Given the description of an element on the screen output the (x, y) to click on. 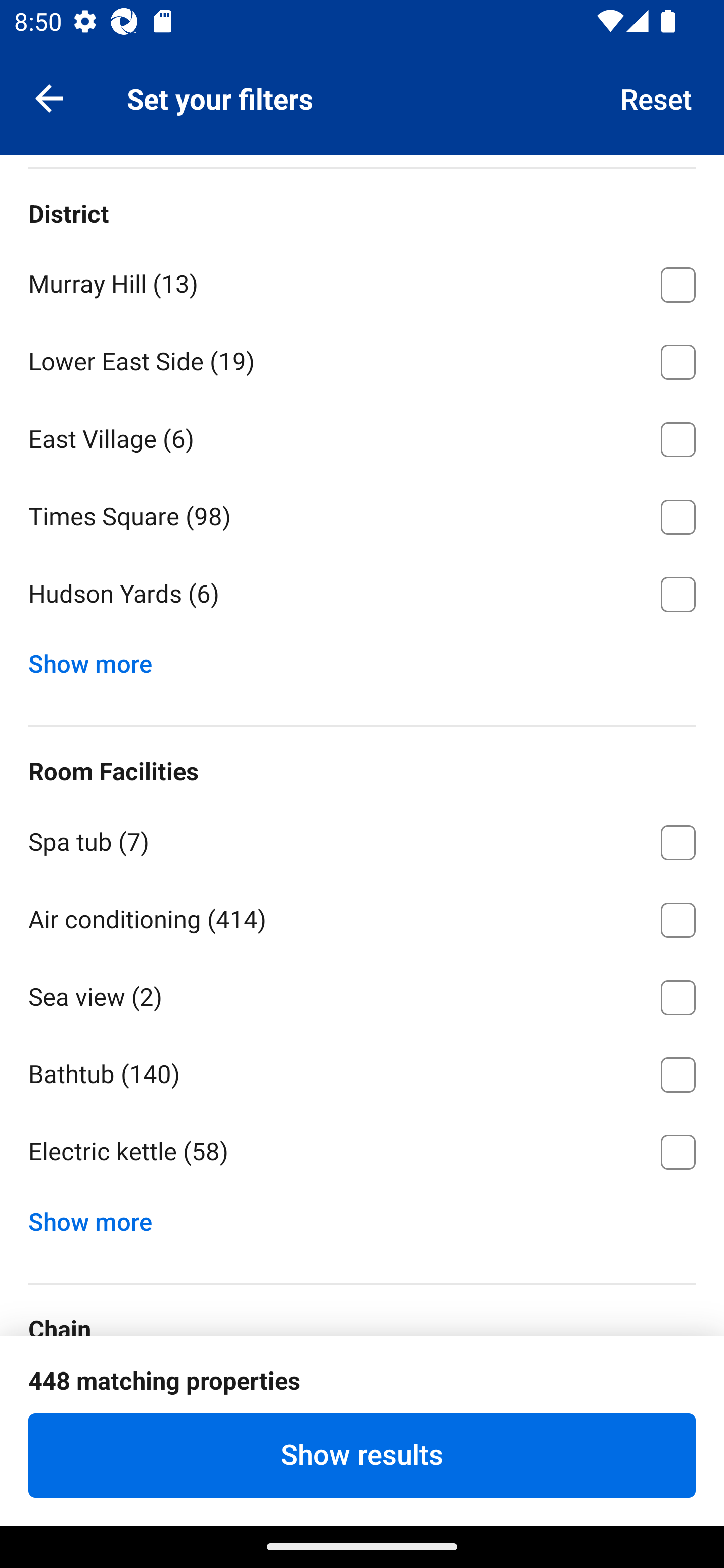
Navigate up (49, 97)
Reset (656, 97)
Murray Hill ⁦(13) (361, 281)
Lower East Side ⁦(19) (361, 358)
East Village ⁦(6) (361, 436)
Times Square ⁦(98) (361, 513)
Hudson Yards ⁦(6) (361, 593)
Show more (97, 659)
Spa tub ⁦(7) (361, 839)
Air conditioning ⁦(414) (361, 916)
Sea view ⁦(2) (361, 993)
Bathtub ⁦(140) (361, 1071)
Electric kettle ⁦(58) (361, 1152)
Show more (97, 1217)
Hilton Garden Inn ⁦(9) (361, 1396)
Show results (361, 1454)
